Given the description of an element on the screen output the (x, y) to click on. 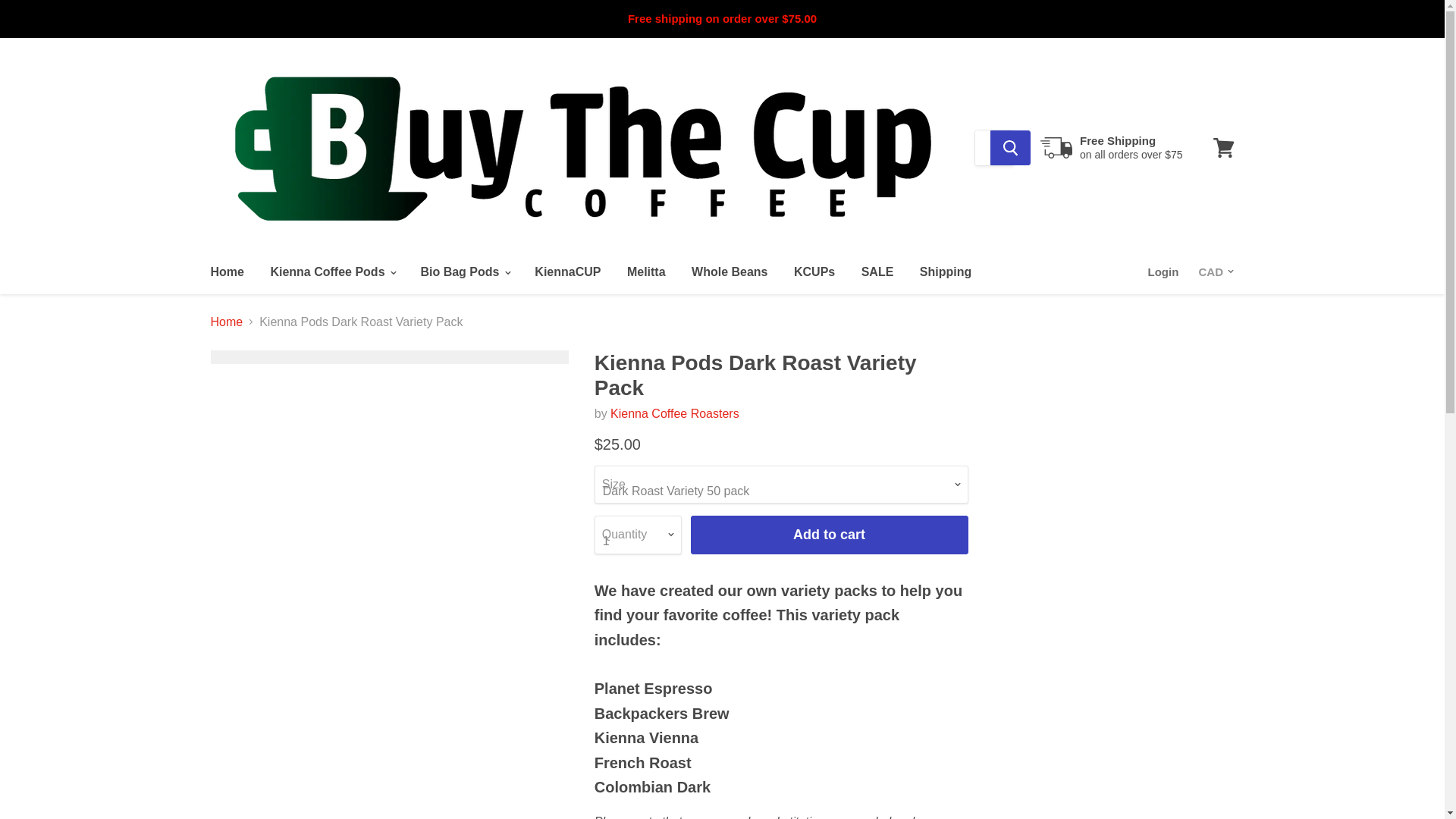
KiennaCUP (566, 272)
Bio Bag Pods (464, 272)
SALE (877, 272)
Shipping (945, 272)
KCUPs (814, 272)
Home (226, 272)
Whole Beans (728, 272)
Login (1163, 272)
Kienna Coffee Pods (332, 272)
Melitta (646, 272)
